Given the description of an element on the screen output the (x, y) to click on. 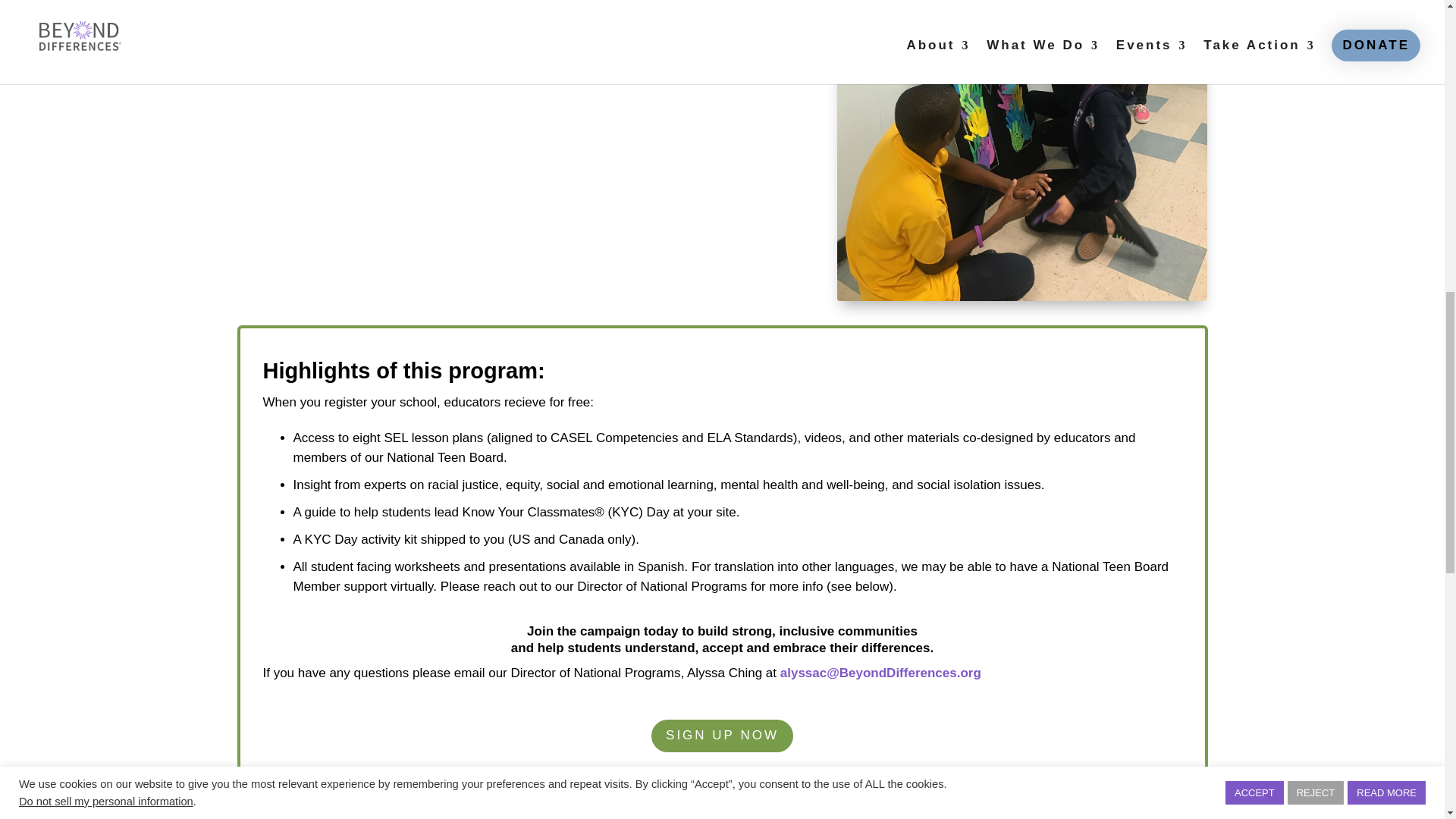
BD Students and Hands Artwork-min (1022, 150)
